Given the description of an element on the screen output the (x, y) to click on. 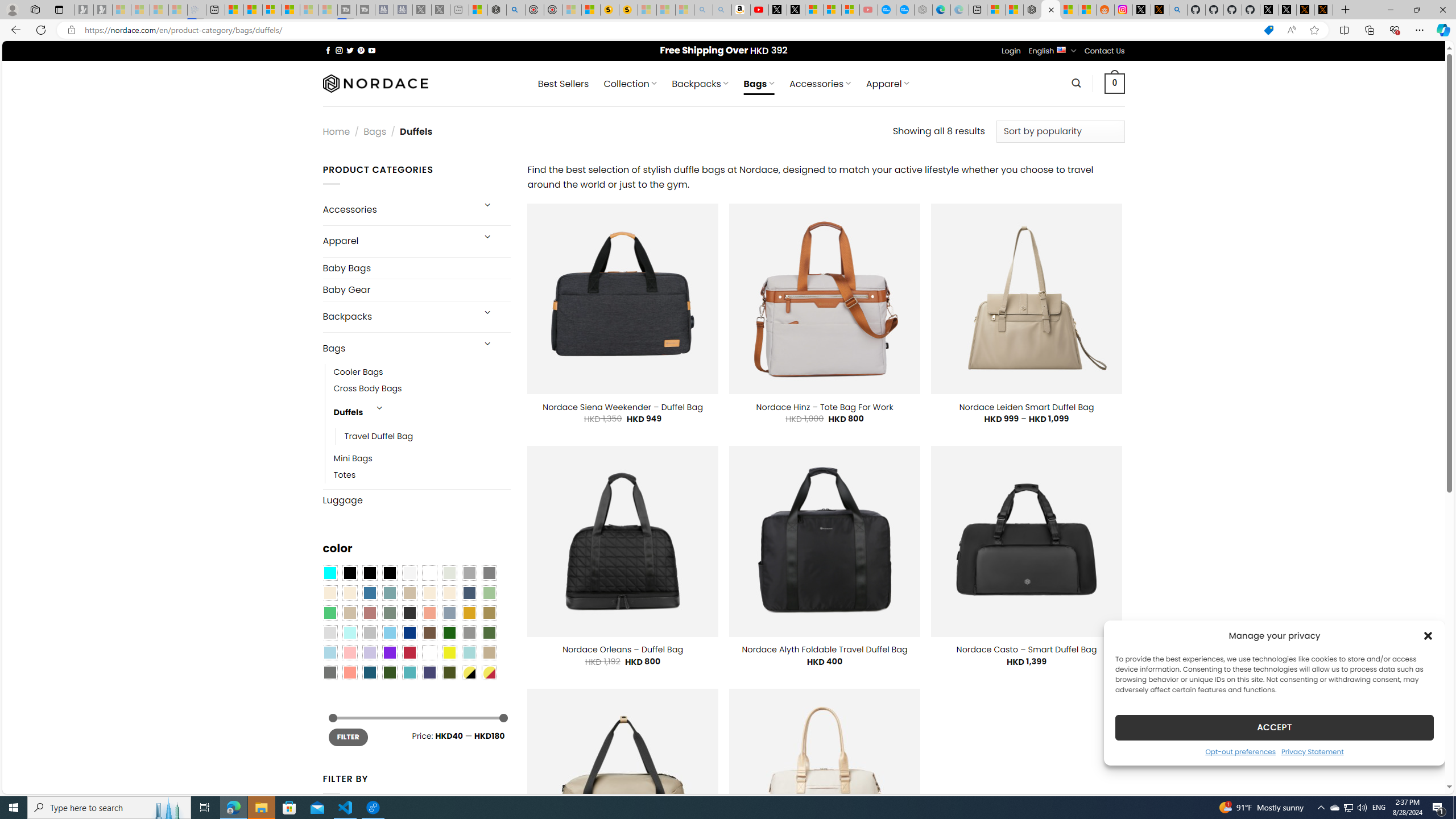
Log in to X / X (1142, 9)
Follow on Facebook (327, 49)
Newsletter Sign Up - Sleeping (102, 9)
Nordace Alyth Foldable Travel Duffel Bag (824, 649)
Beige (329, 592)
amazon - Search - Sleeping (702, 9)
Army Green (449, 672)
